Given the description of an element on the screen output the (x, y) to click on. 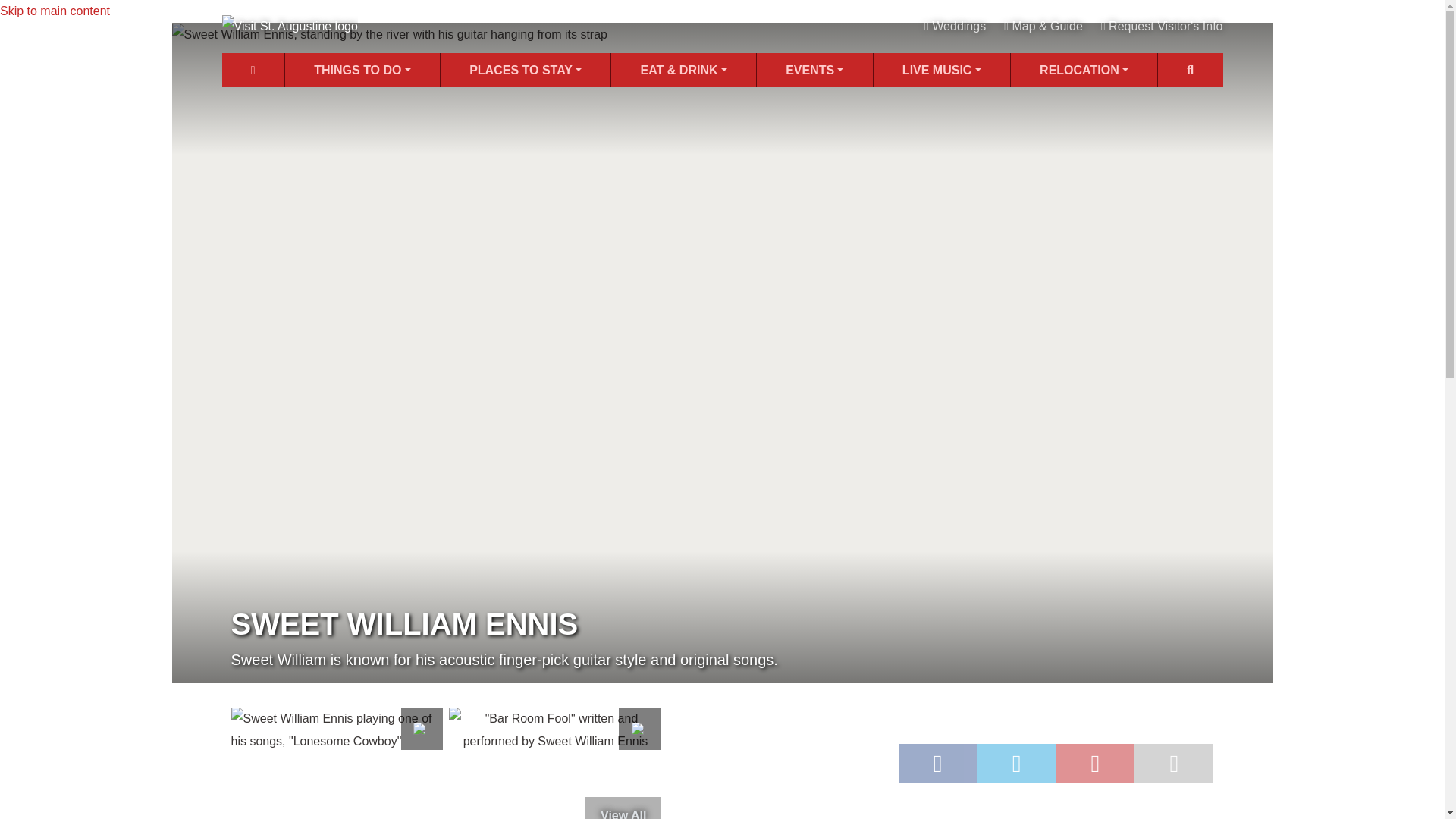
Weddings (954, 25)
PLACES TO STAY (525, 69)
Request Visitor's Info (1161, 25)
Share on Pinterest (1094, 762)
Share on Twitter (1015, 762)
THINGS TO DO (362, 69)
Discover your Perfect Florida Lifestyle (1083, 69)
Share in an Email (1173, 762)
Share on Facebook (937, 762)
Search (1190, 69)
